Given the description of an element on the screen output the (x, y) to click on. 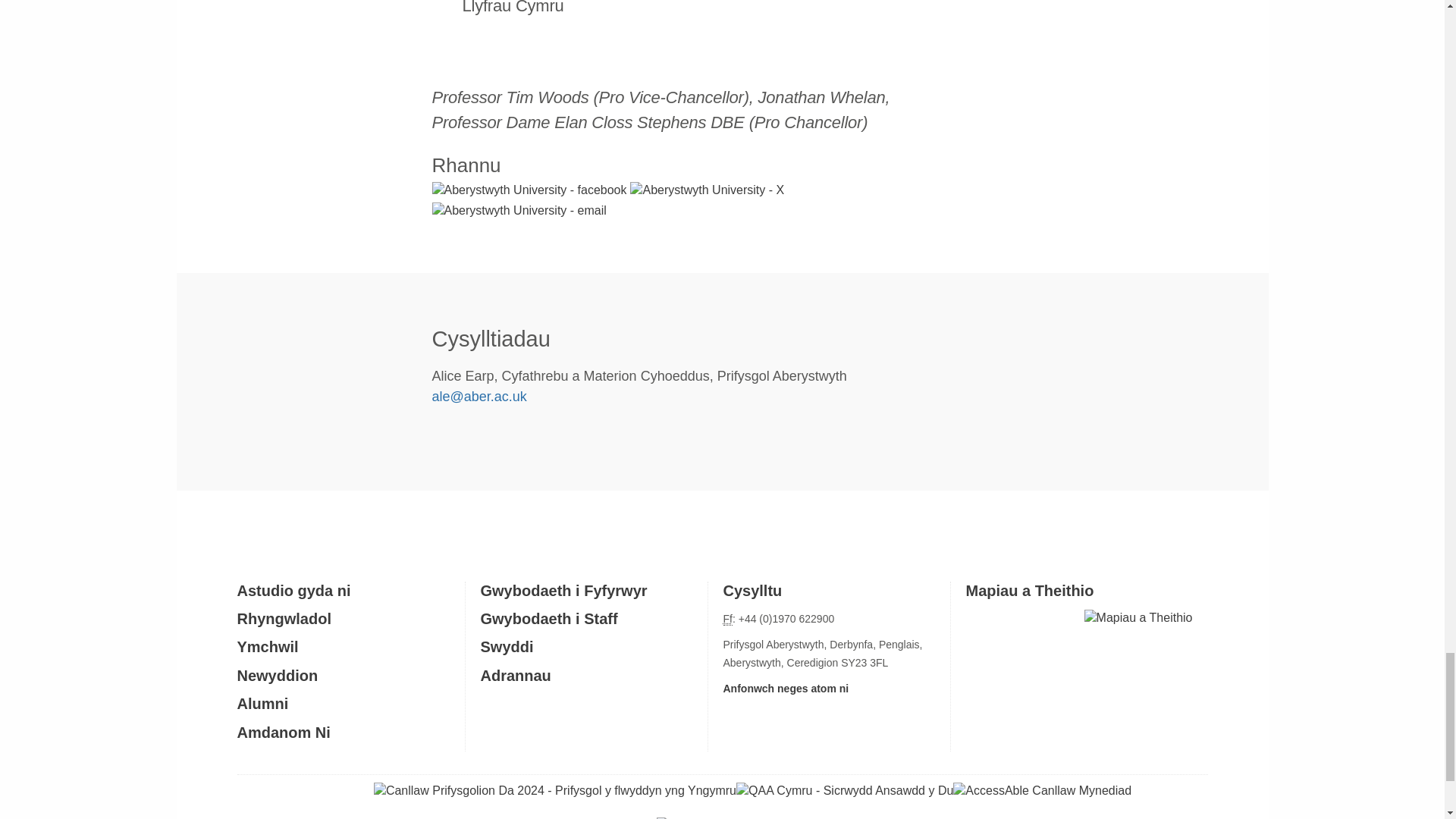
Telephone (727, 618)
